Given the description of an element on the screen output the (x, y) to click on. 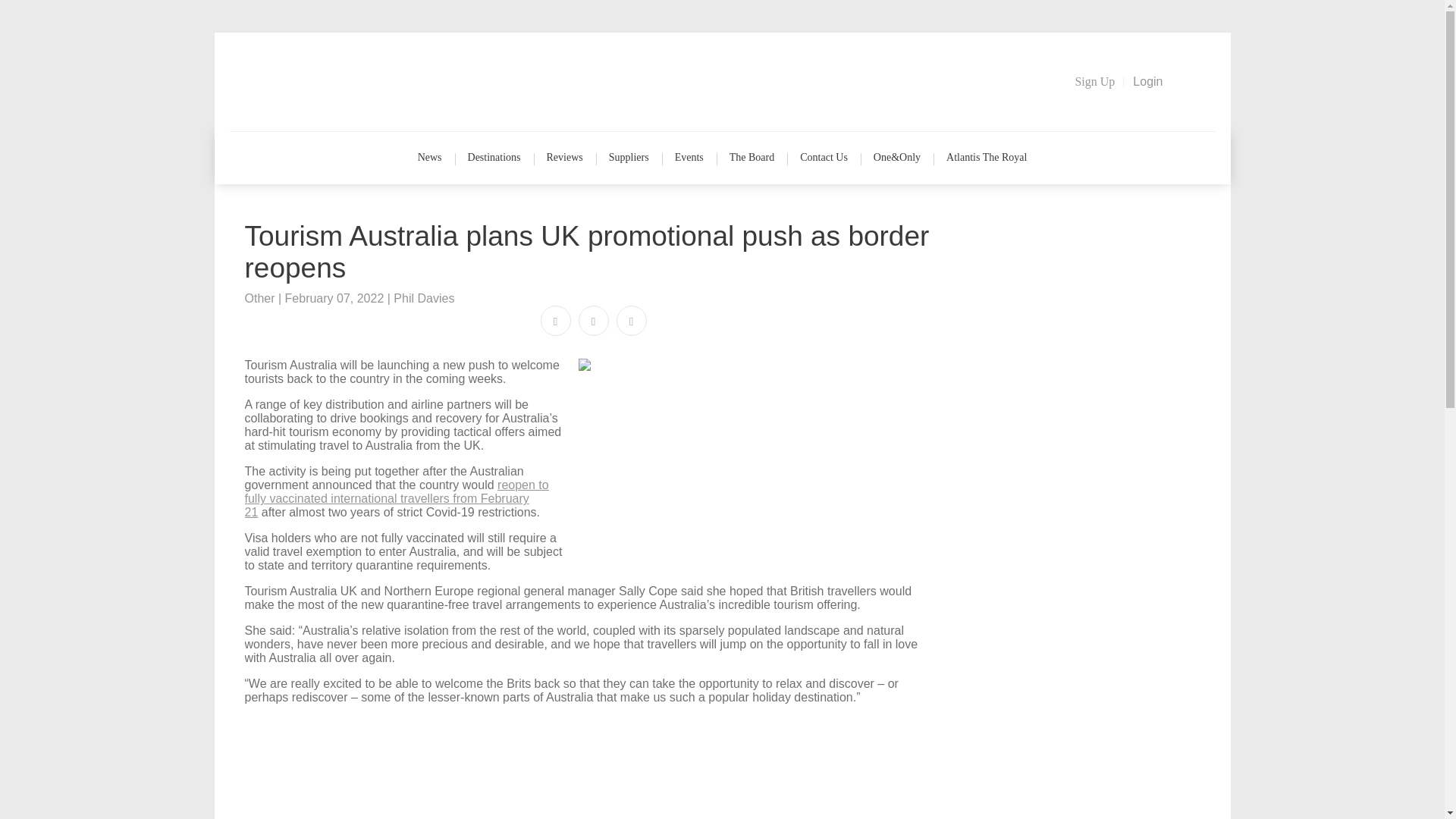
Contact Us (823, 157)
Destinations (494, 157)
Atlantis The Royal (986, 157)
Share on Facebook (555, 320)
Reviews (564, 157)
Share on Twitter (592, 320)
Sign Up (1094, 81)
Other (259, 297)
Login (1147, 81)
Other (259, 297)
